Given the description of an element on the screen output the (x, y) to click on. 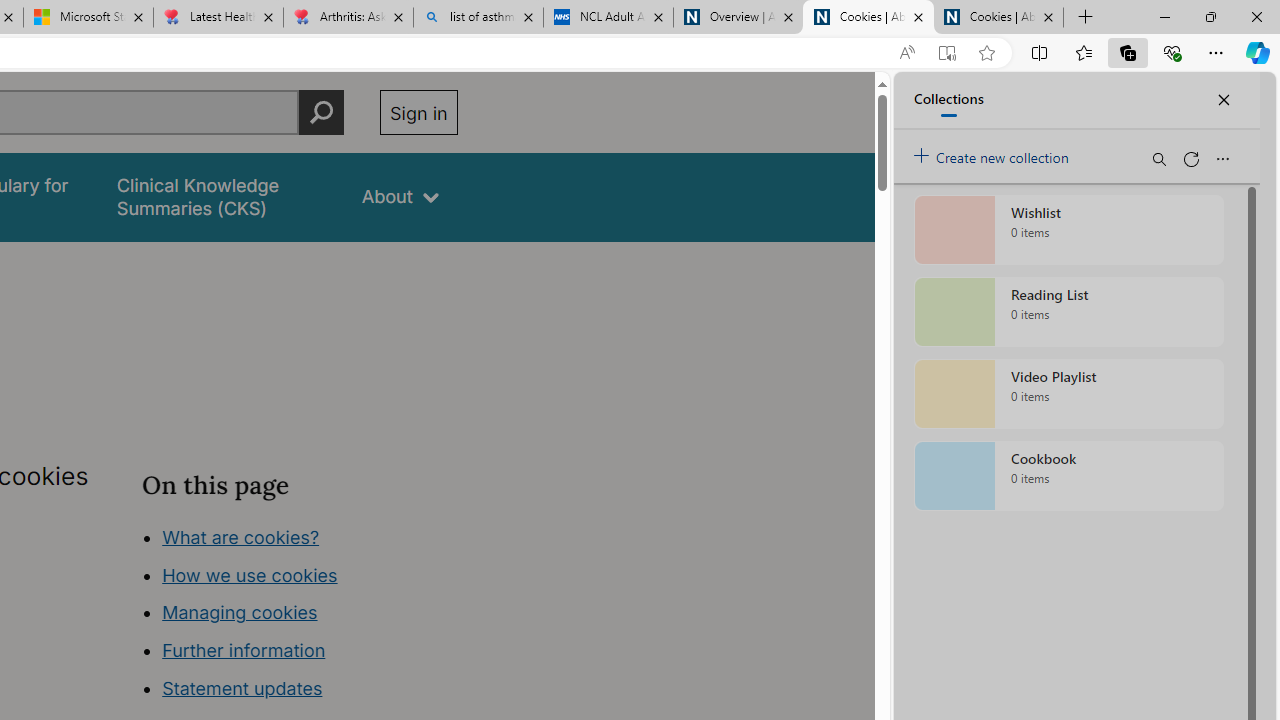
false (221, 196)
